Given the description of an element on the screen output the (x, y) to click on. 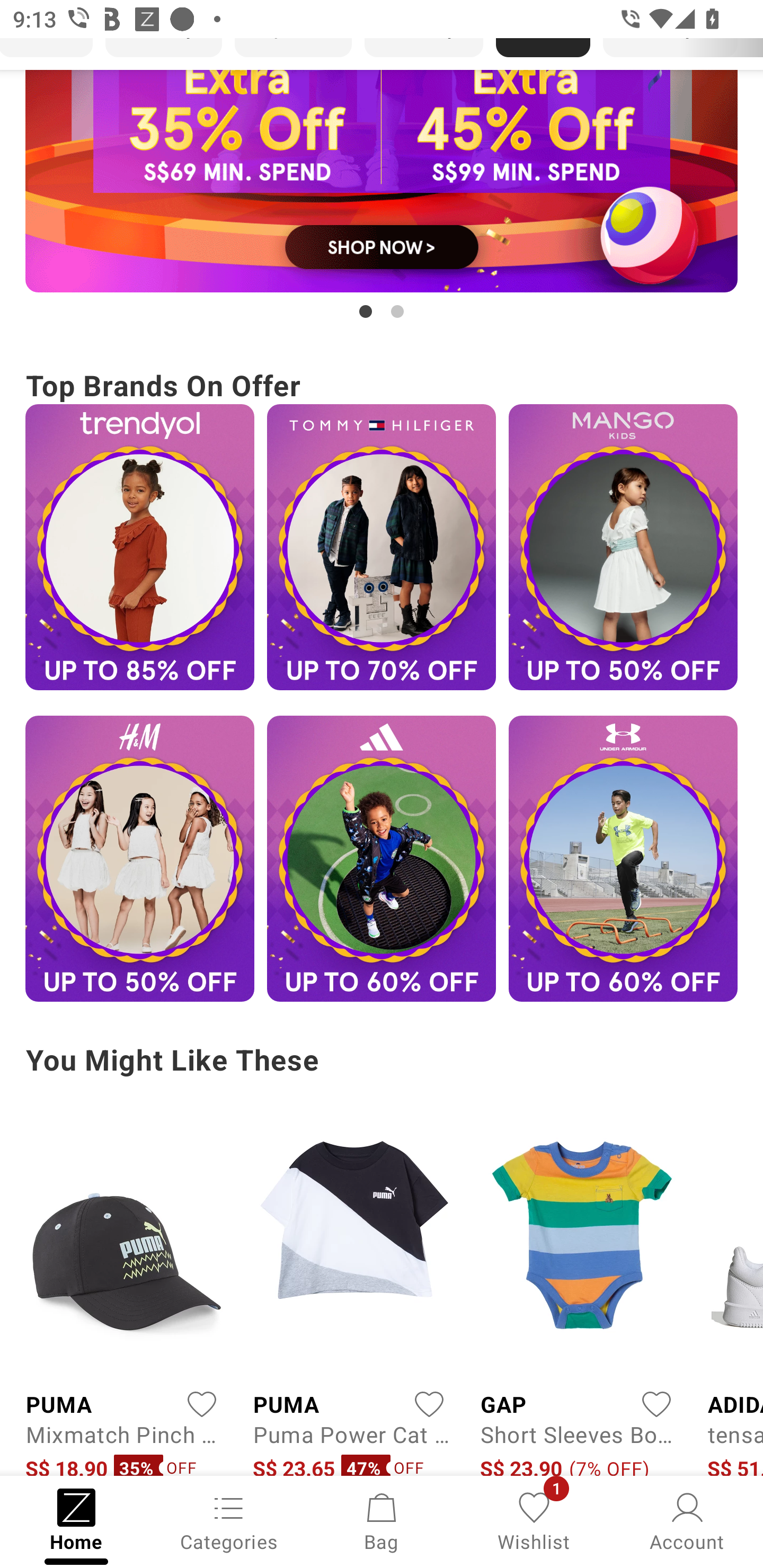
Campaign banner (381, 180)
Campaign banner (139, 546)
Campaign banner (381, 546)
Campaign banner (622, 546)
Campaign banner (139, 858)
Campaign banner (381, 858)
Campaign banner (622, 858)
Categories (228, 1519)
Bag (381, 1519)
Wishlist, 1 new notification Wishlist (533, 1519)
Account (686, 1519)
